Given the description of an element on the screen output the (x, y) to click on. 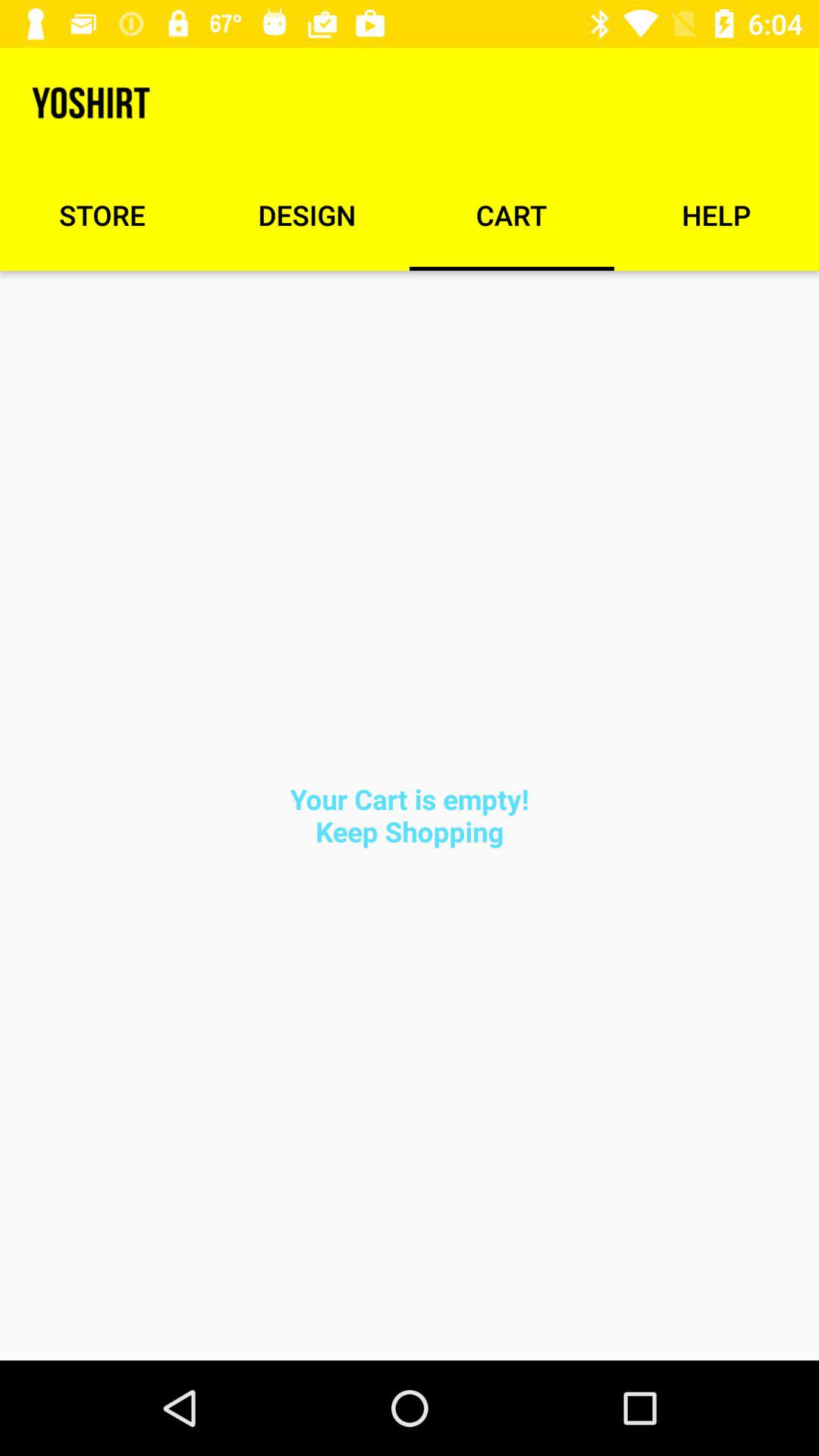
jump to your cart is icon (409, 815)
